Given the description of an element on the screen output the (x, y) to click on. 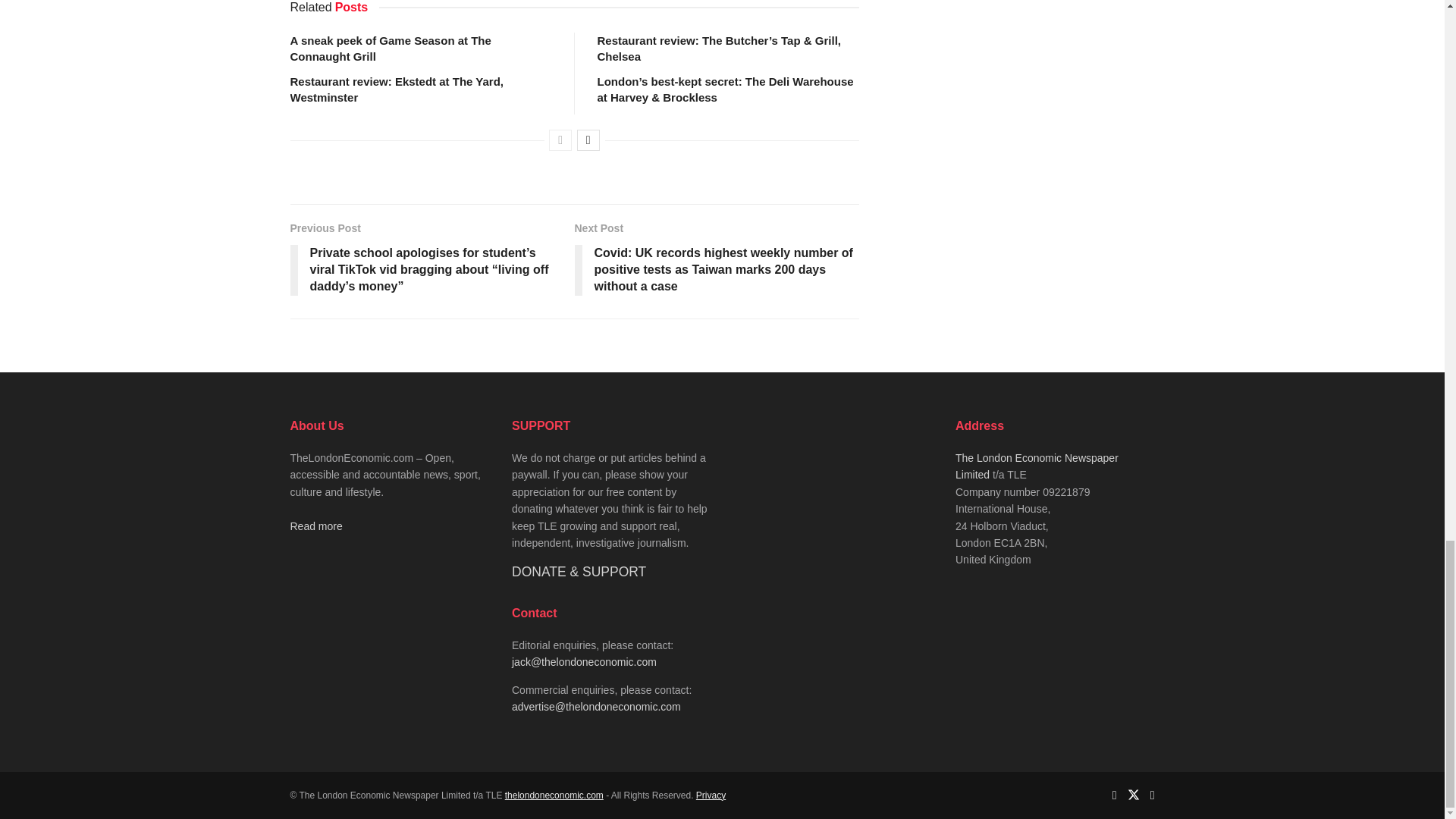
Next (587, 139)
Previous (560, 139)
Privacy (710, 795)
The London Economic (554, 795)
